Given the description of an element on the screen output the (x, y) to click on. 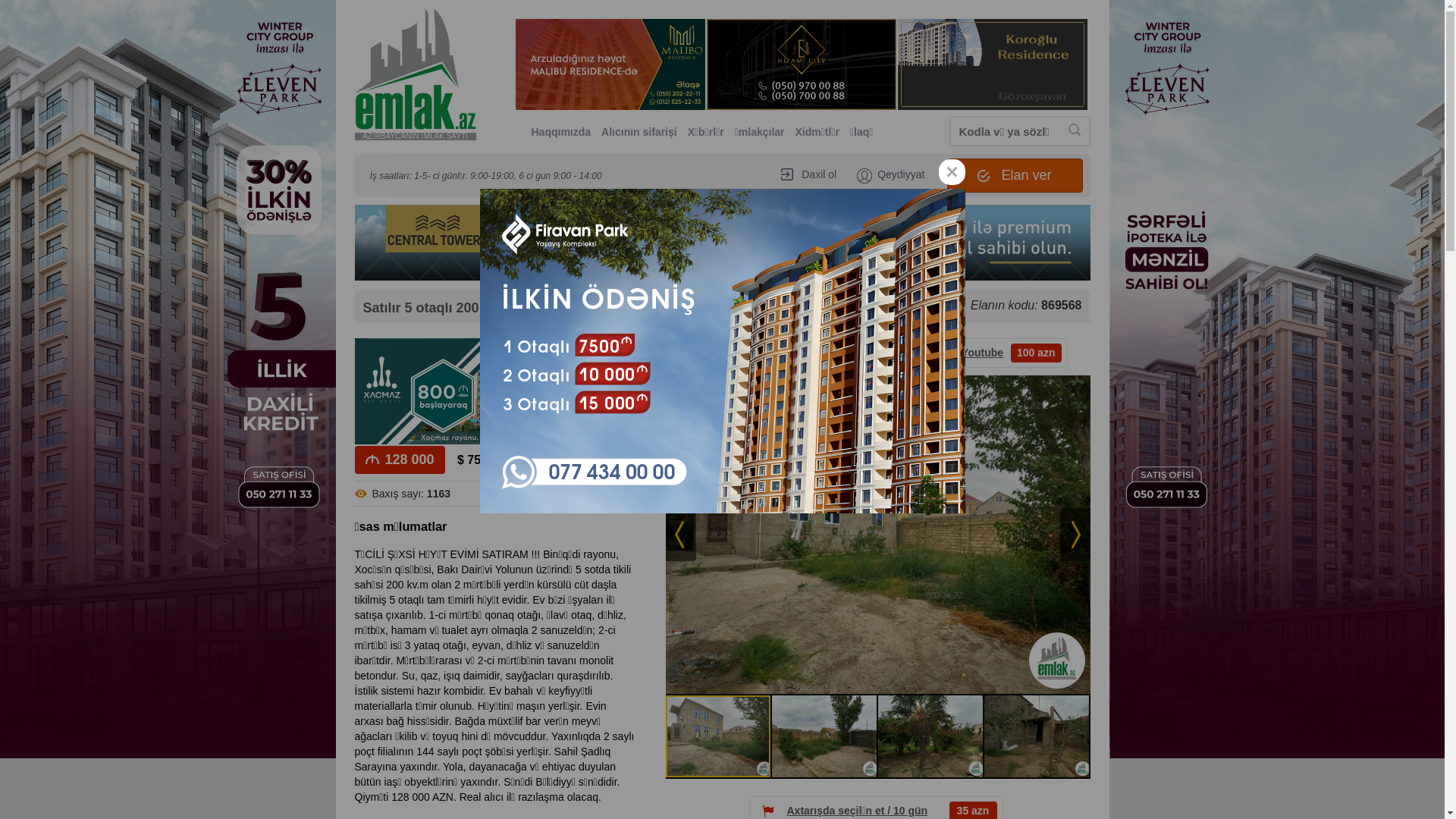
Daxil ol Element type: text (808, 174)
Elan ver Element type: text (1014, 175)
Premium et
20 azn Element type: text (736, 352)
Qeydiyyat Element type: text (890, 175)
Youtube
100 azn Element type: text (1001, 352)
